Given the description of an element on the screen output the (x, y) to click on. 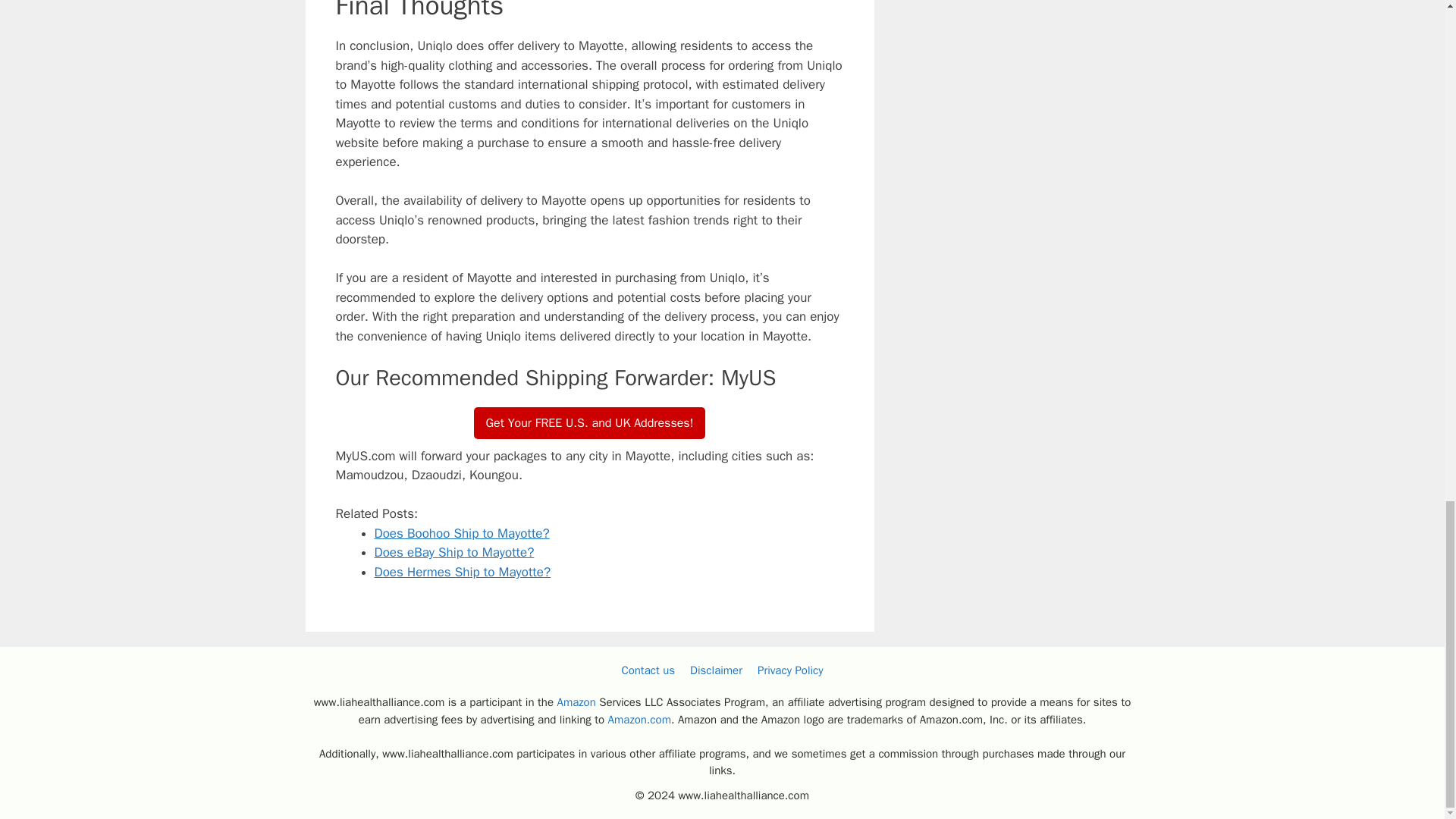
Amazon (575, 702)
Does eBay Ship to Mayotte? (454, 552)
Does Hermes Ship to Mayotte? (462, 571)
Get Your FREE U.S. and UK Addresses! (590, 422)
Disclaimer (716, 670)
Privacy Policy (790, 670)
Does Boohoo Ship to Mayotte? (462, 533)
Contact us (648, 670)
Amazon.com (639, 719)
